Given the description of an element on the screen output the (x, y) to click on. 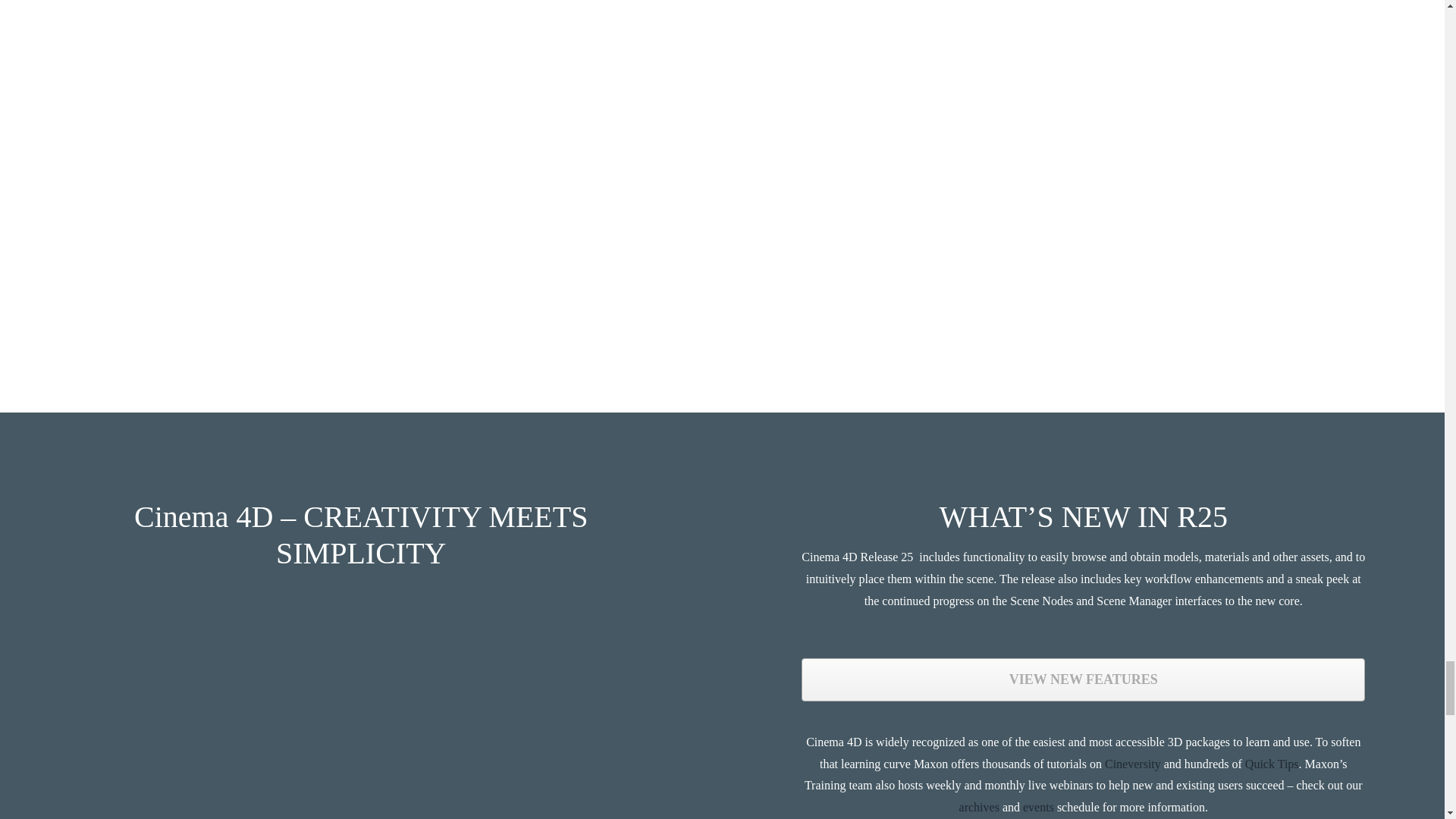
archives (978, 807)
Quick Tips (1271, 763)
events (1038, 807)
VIEW NEW FEATURES (1083, 679)
Cineversity (1132, 763)
